Given the description of an element on the screen output the (x, y) to click on. 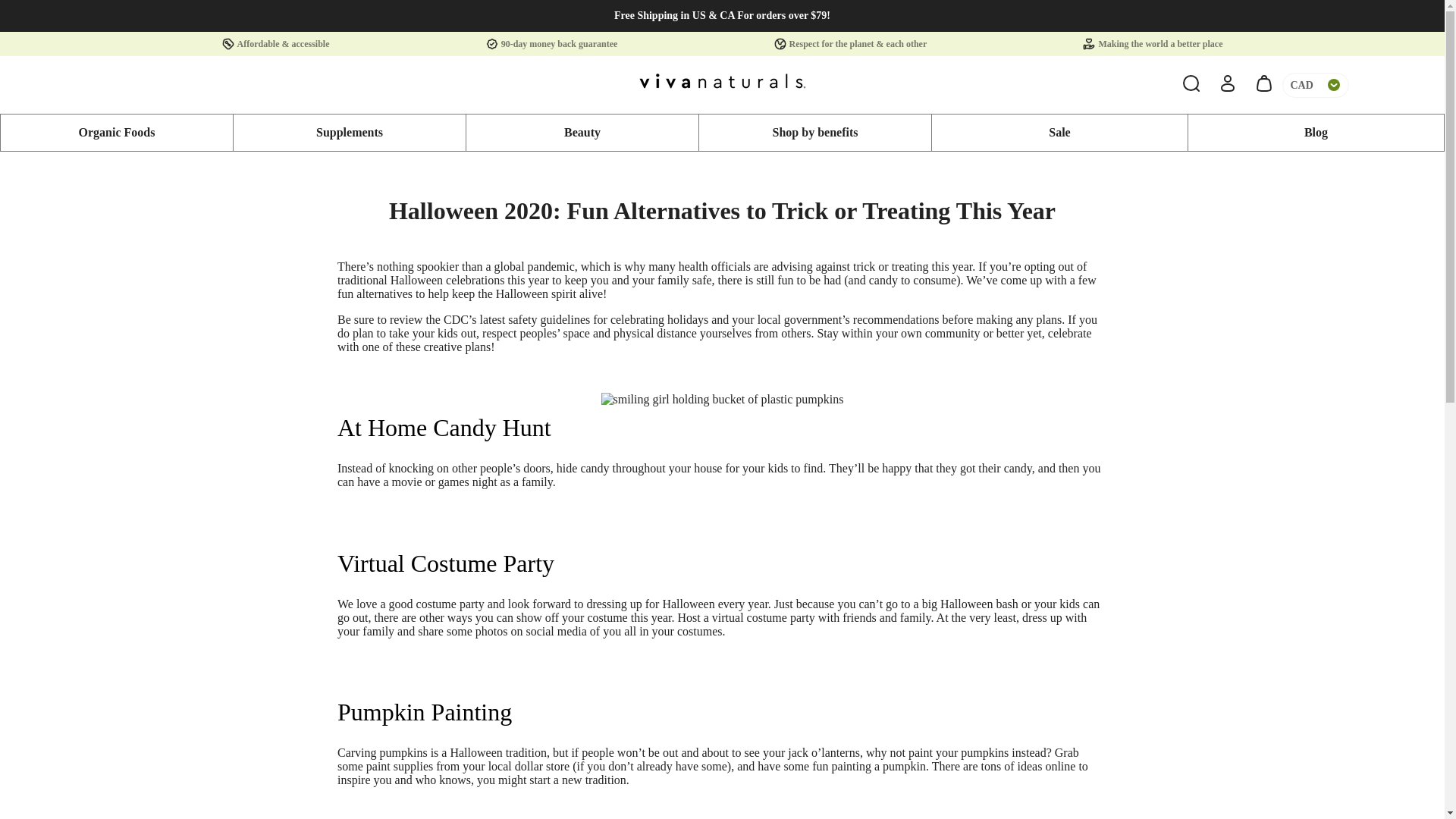
Beauty (581, 132)
homepage (722, 84)
Supplements (348, 132)
Organic Foods (116, 132)
